Given the description of an element on the screen output the (x, y) to click on. 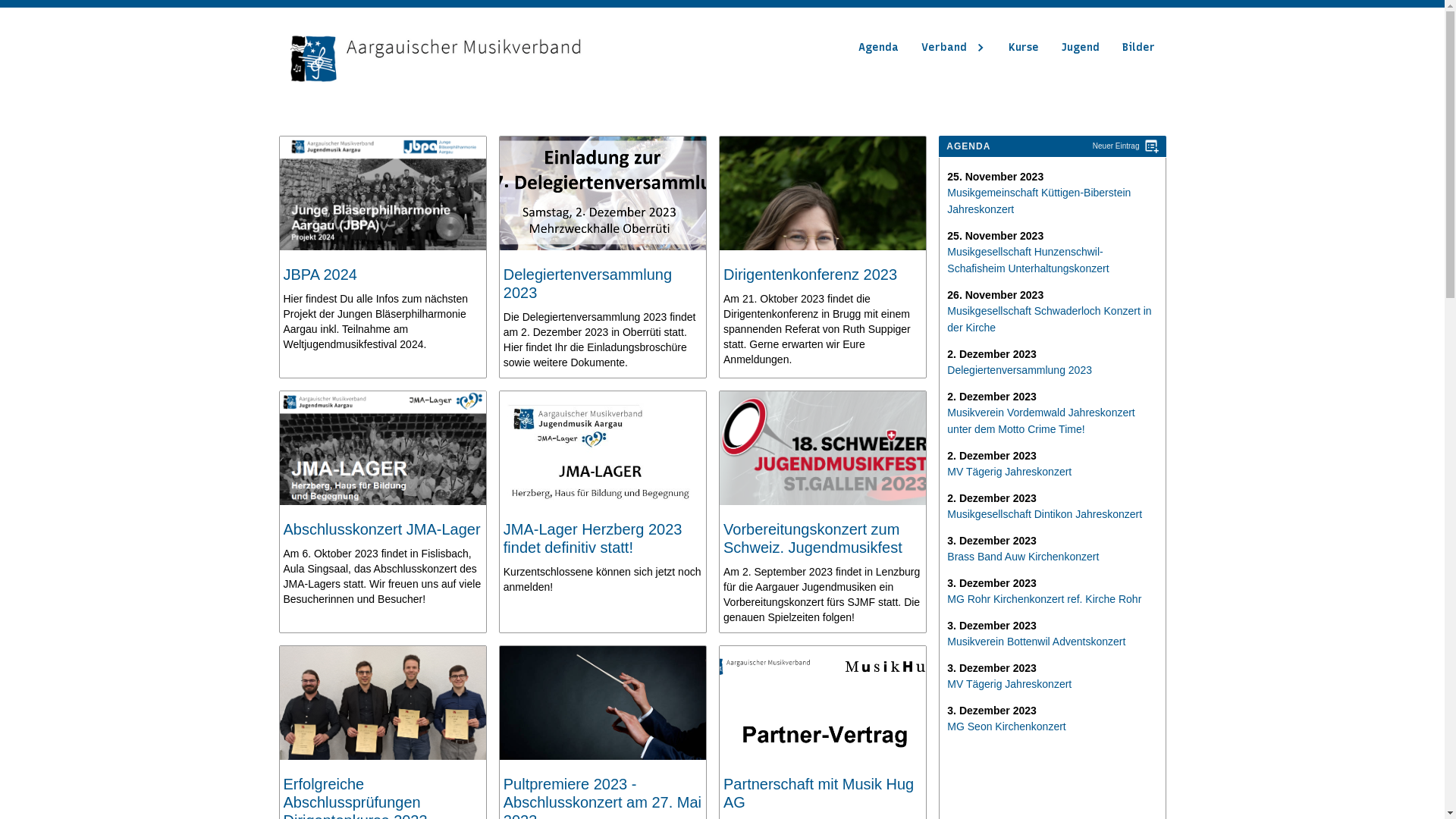
Agenda Element type: text (877, 47)
2. Dezember 2023
Delegiertenversammlung 2023 Element type: text (1019, 362)
3. Dezember 2023
Brass Band Auw Kirchenkonzert Element type: text (1022, 548)
Jugend Element type: text (1079, 47)
Bilder Element type: text (1137, 47)
Kurse Element type: text (1022, 47)
Neuer Eintrag Element type: text (1051, 145)
Search Element type: text (28, 14)
3. Dezember 2023
MG Rohr Kirchenkonzert ref. Kirche Rohr Element type: text (1044, 591)
3. Dezember 2023
MG Seon Kirchenkonzert Element type: text (1006, 718)
2. Dezember 2023
Musikgesellschaft Dintikon Jahreskonzert Element type: text (1044, 506)
3. Dezember 2023
Musikverein Bottenwil Adventskonzert Element type: text (1036, 633)
